Given the description of an element on the screen output the (x, y) to click on. 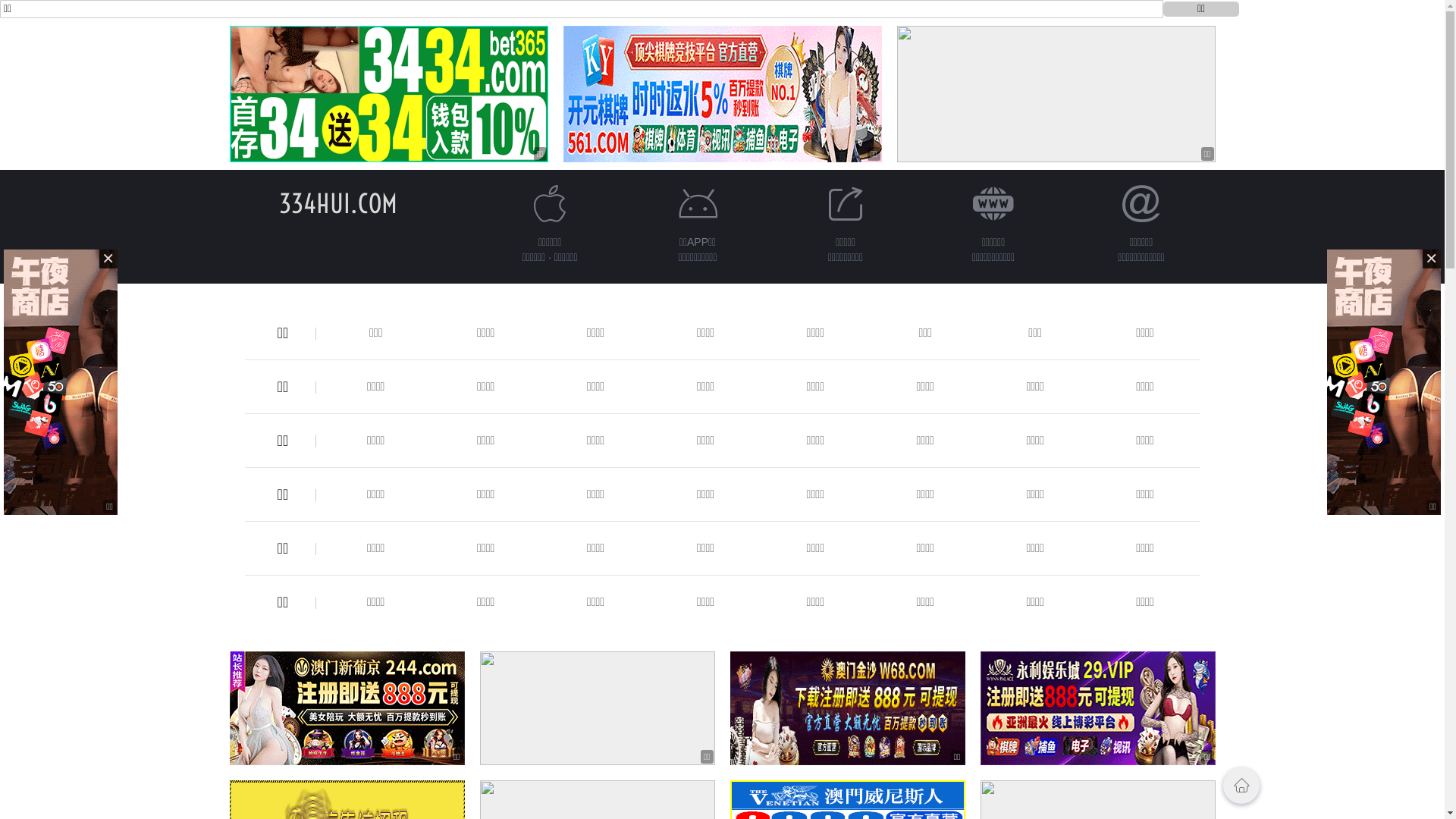
334HUI.COM Element type: text (338, 203)
